Given the description of an element on the screen output the (x, y) to click on. 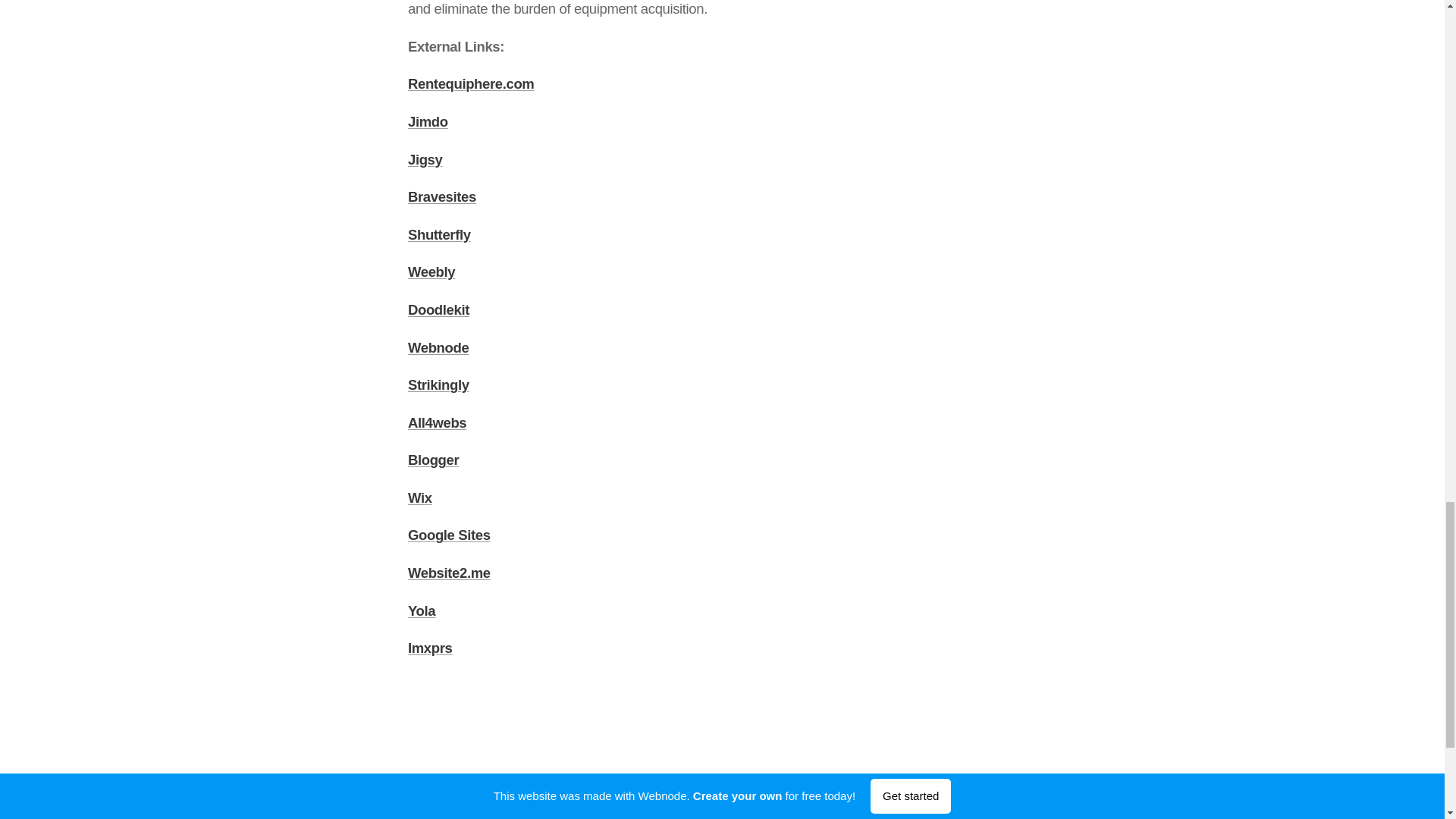
All4webs (436, 422)
Google Sites (448, 535)
Weebly (430, 271)
Bravesites (441, 196)
Jigsy (424, 159)
Website2.me (448, 572)
Wix (419, 497)
Jimdo (427, 121)
Imxprs (429, 647)
Webnode (437, 347)
Doodlekit (437, 309)
Yola (421, 610)
Rentequiphere.com (470, 83)
Blogger (432, 459)
Strikingly (437, 384)
